Given the description of an element on the screen output the (x, y) to click on. 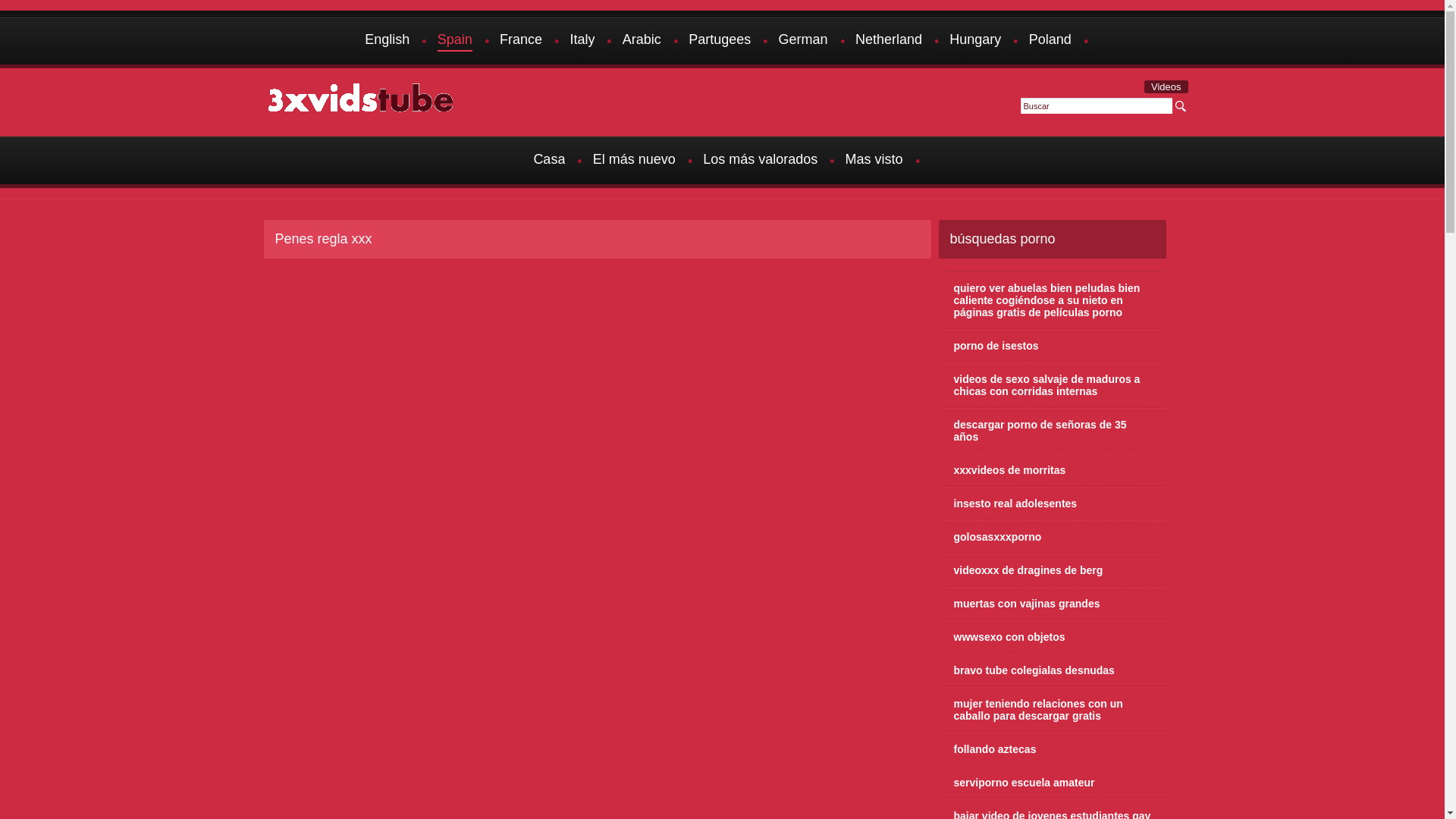
Videos Element type: text (1166, 86)
videoxxx de dragines de berg Element type: text (1052, 570)
Netherland Element type: text (888, 40)
golosasxxxporno Element type: text (1052, 536)
Spain Element type: text (454, 40)
Italy Element type: text (581, 40)
xxxvideos de morritas Element type: text (1052, 470)
Hungary Element type: text (975, 40)
muertas con vajinas grandes Element type: text (1052, 603)
Mas visto Element type: text (874, 160)
Poland Element type: text (1050, 40)
bravo tube colegialas desnudas Element type: text (1052, 670)
insesto real adolesentes Element type: text (1052, 503)
wwwsexo con objetos Element type: text (1052, 636)
follando aztecas Element type: text (1052, 749)
English Element type: text (386, 40)
Casa Element type: text (548, 160)
France Element type: text (520, 40)
porno de isestos Element type: text (1052, 345)
Partugees Element type: text (719, 40)
serviporno escuela amateur Element type: text (1052, 782)
German Element type: text (803, 40)
Arabic Element type: text (641, 40)
